Given the description of an element on the screen output the (x, y) to click on. 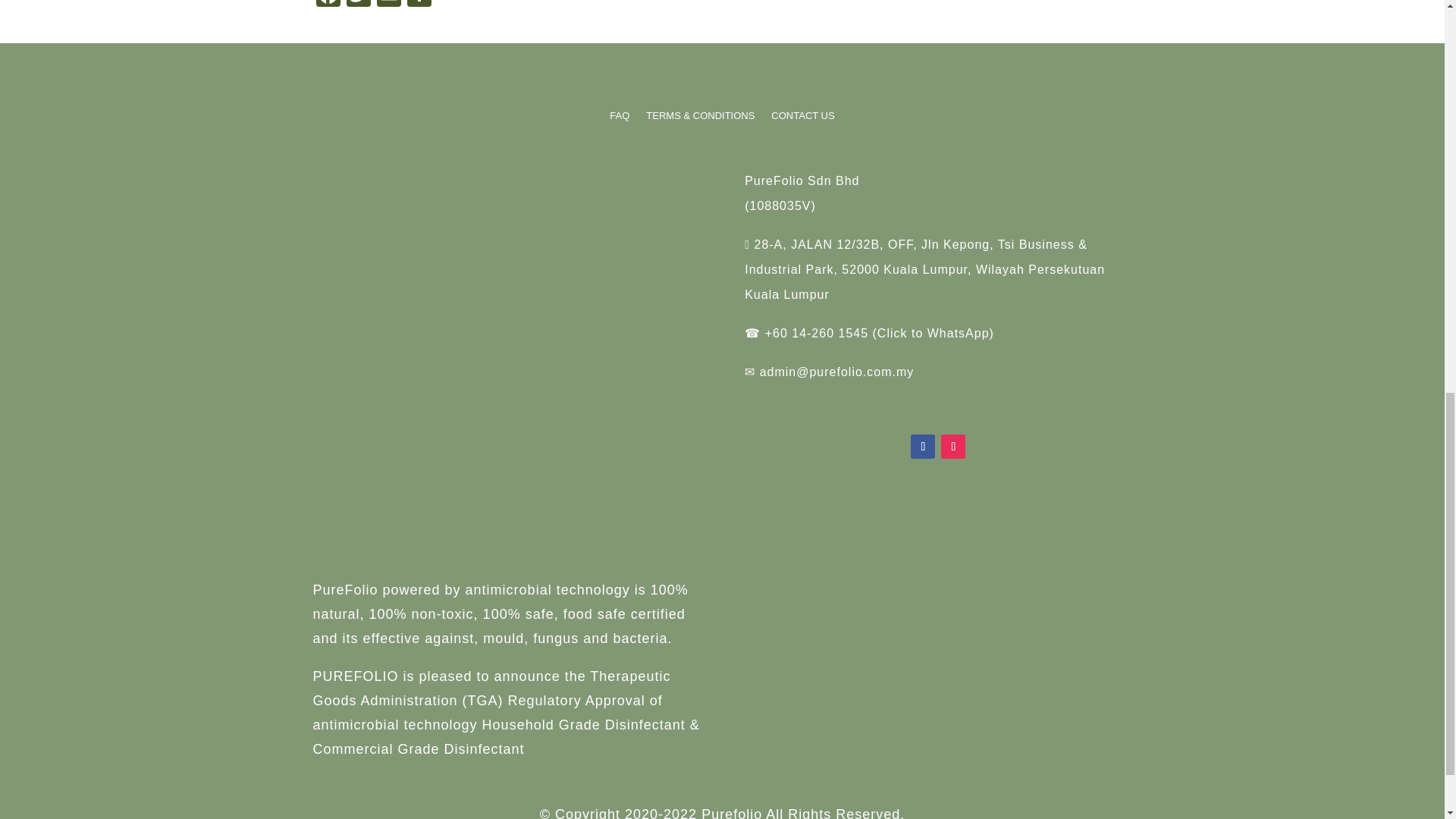
Follow on Instagram (952, 446)
Twitter (357, 5)
Email (387, 5)
Follow on Facebook (922, 446)
Email (387, 5)
CONTACT US (802, 118)
FAQ (619, 118)
Twitter (357, 5)
Facebook (327, 5)
Facebook (327, 5)
